Given the description of an element on the screen output the (x, y) to click on. 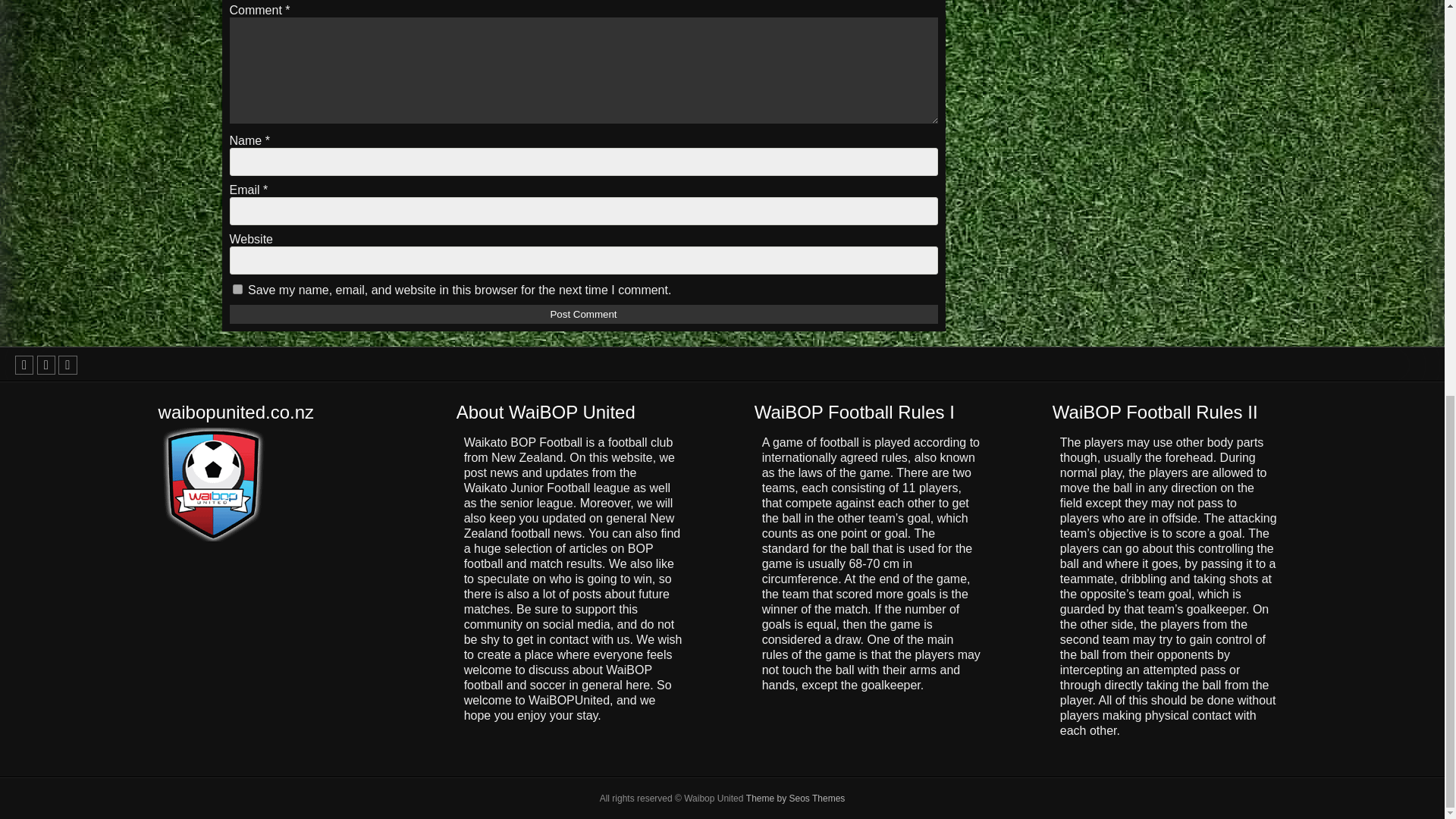
yes (236, 289)
Seos Themes (795, 798)
Post Comment (582, 313)
Theme by Seos Themes (795, 798)
Post Comment (582, 313)
